Given the description of an element on the screen output the (x, y) to click on. 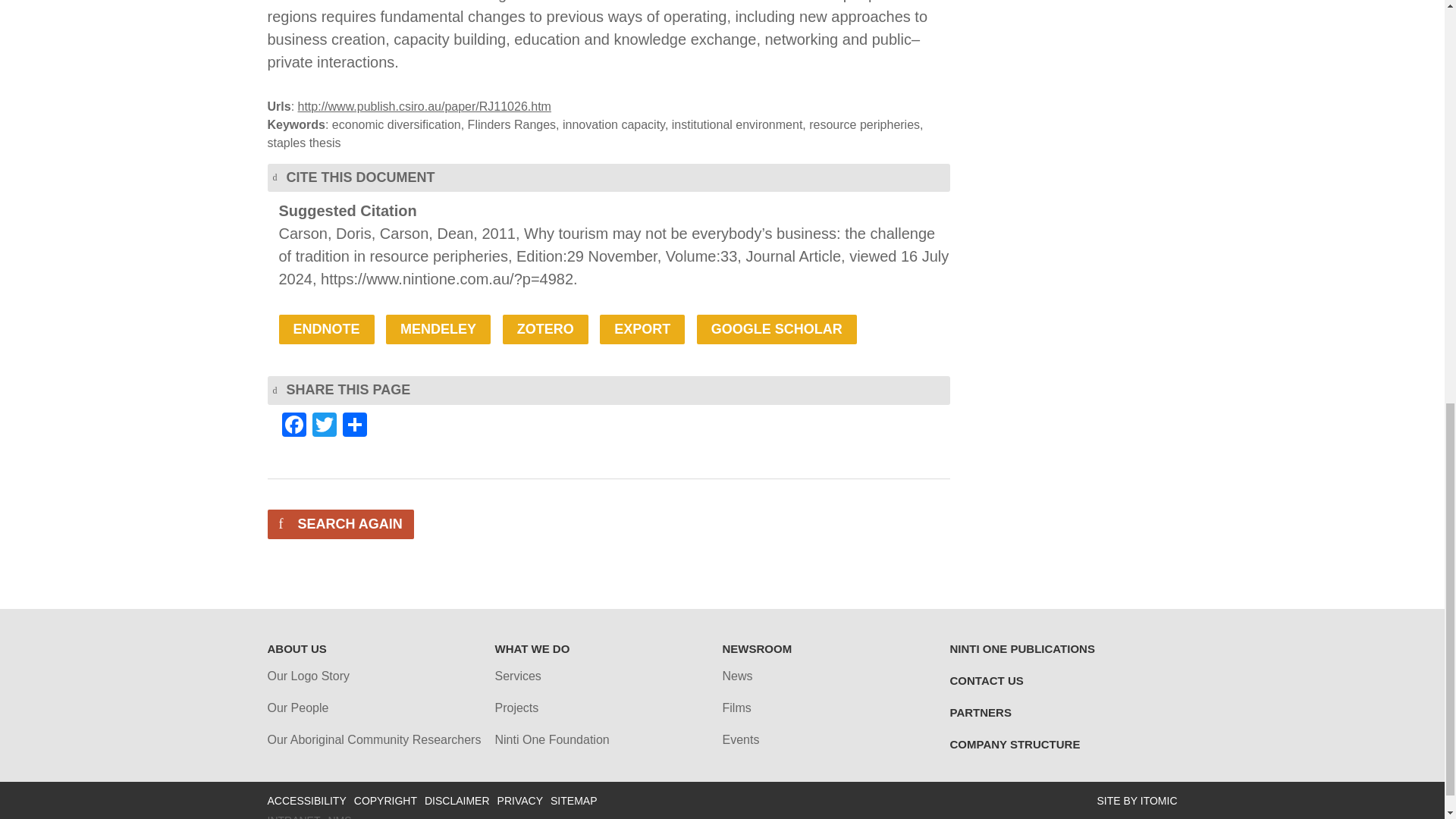
Facebook (293, 426)
ENDNOTE (326, 328)
ZOTERO (545, 328)
Twitter (323, 426)
Facebook (293, 426)
GOOGLE SCHOLAR (777, 328)
EndNote Capture (326, 328)
Export Citation (641, 328)
EXPORT (641, 328)
MENDELEY (437, 328)
Twitter (323, 426)
Mendeley (437, 328)
Check on google scholar (777, 328)
Zotero (545, 328)
SEARCH AGAIN (339, 523)
